Given the description of an element on the screen output the (x, y) to click on. 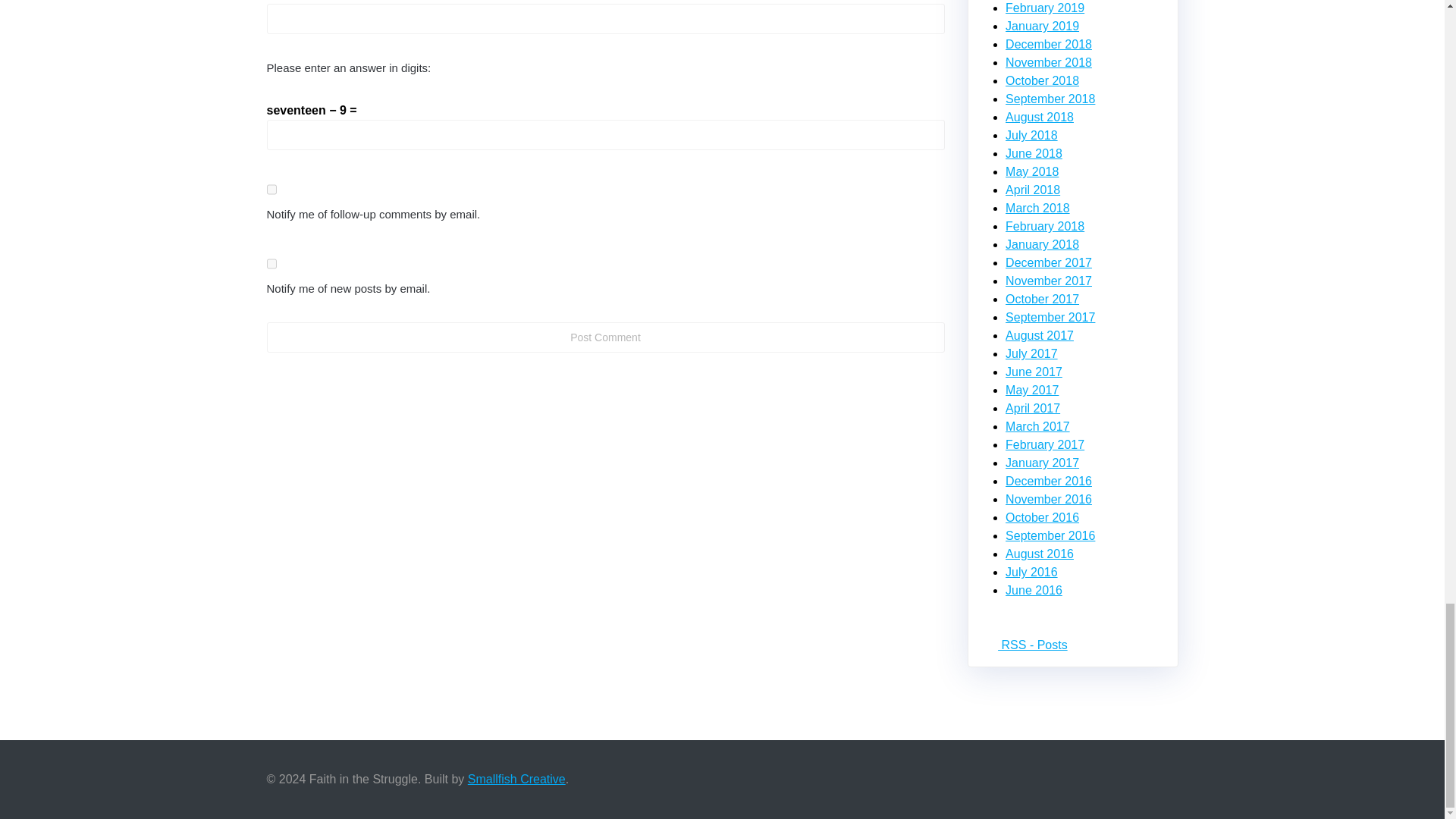
Post Comment (605, 337)
Subscribe to posts (1027, 644)
Post Comment (605, 337)
